Given the description of an element on the screen output the (x, y) to click on. 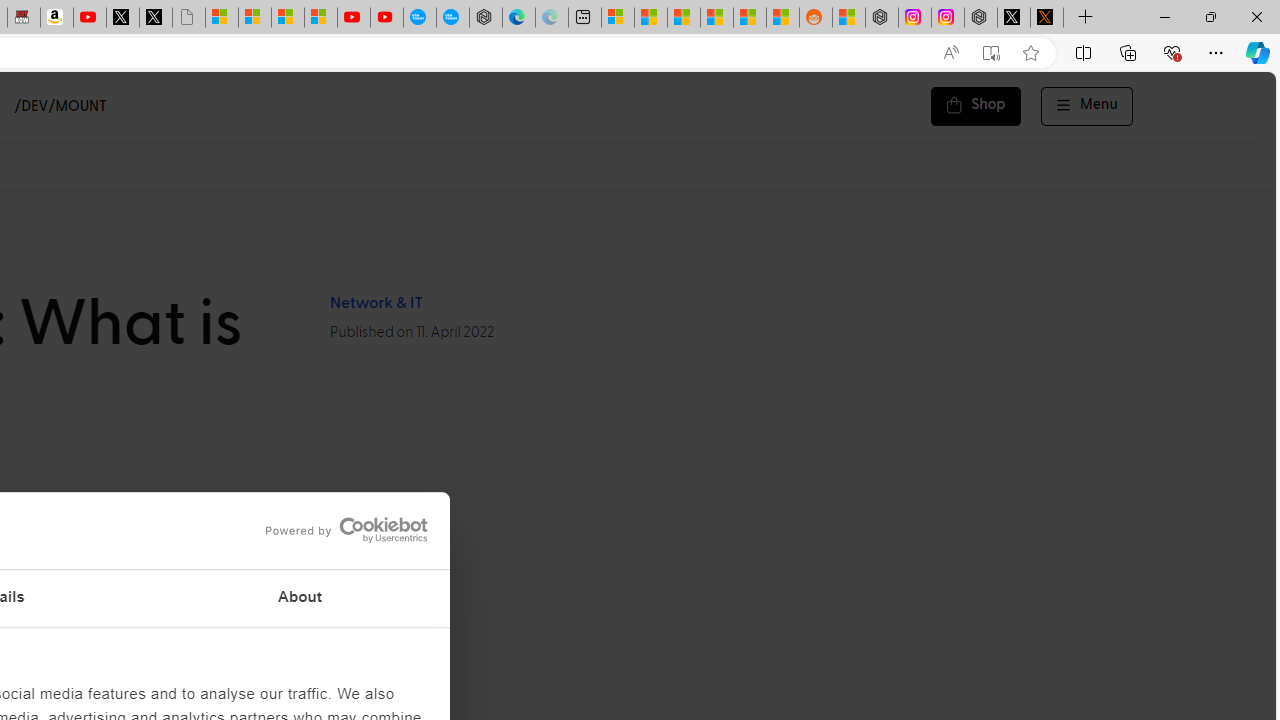
Shanghai, China weather forecast | Microsoft Weather (650, 17)
Shanghai, China hourly forecast | Microsoft Weather (684, 17)
help.x.com | 524: A timeout occurred (1046, 17)
Powered by Cookiebot (345, 530)
YouTube Kids - An App Created for Kids to Explore Content (387, 17)
The most popular Google 'how to' searches (452, 17)
Menu Off-Canvas (1087, 106)
Nordace - Nordace has arrived Hong Kong (485, 17)
